Given the description of an element on the screen output the (x, y) to click on. 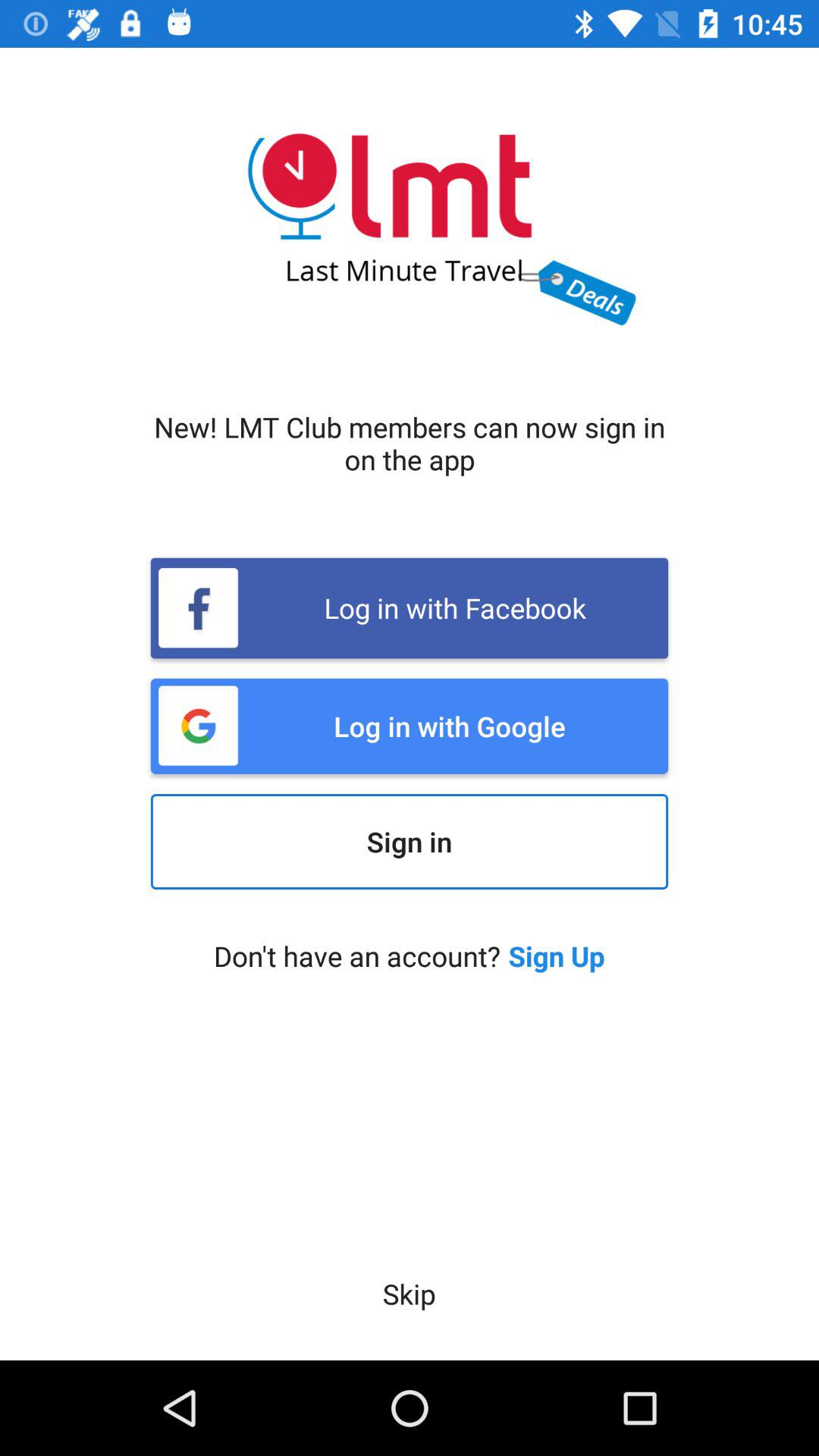
turn on item below don t have icon (408, 1293)
